Given the description of an element on the screen output the (x, y) to click on. 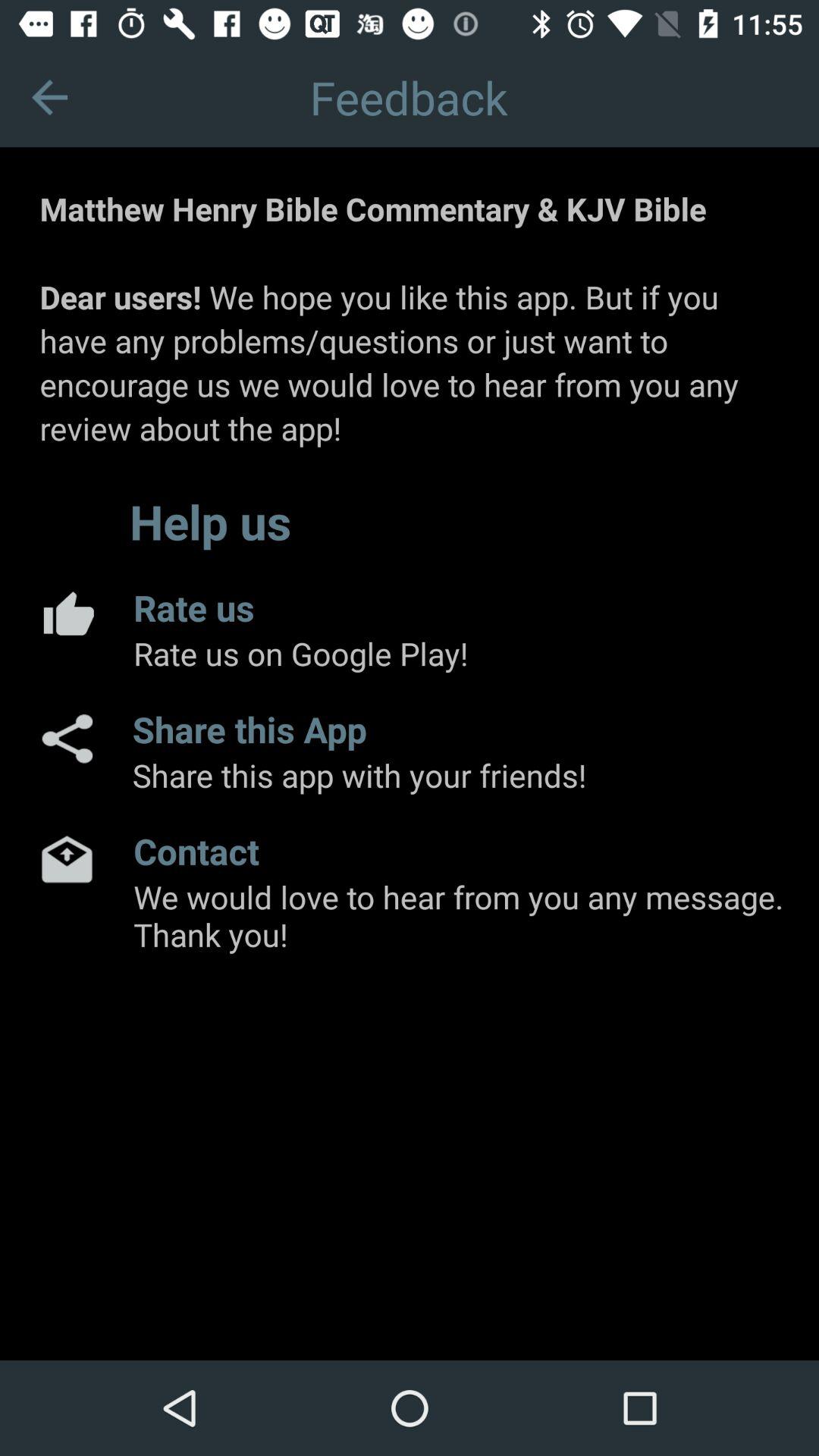
tap app above matthew henry bible (49, 97)
